Given the description of an element on the screen output the (x, y) to click on. 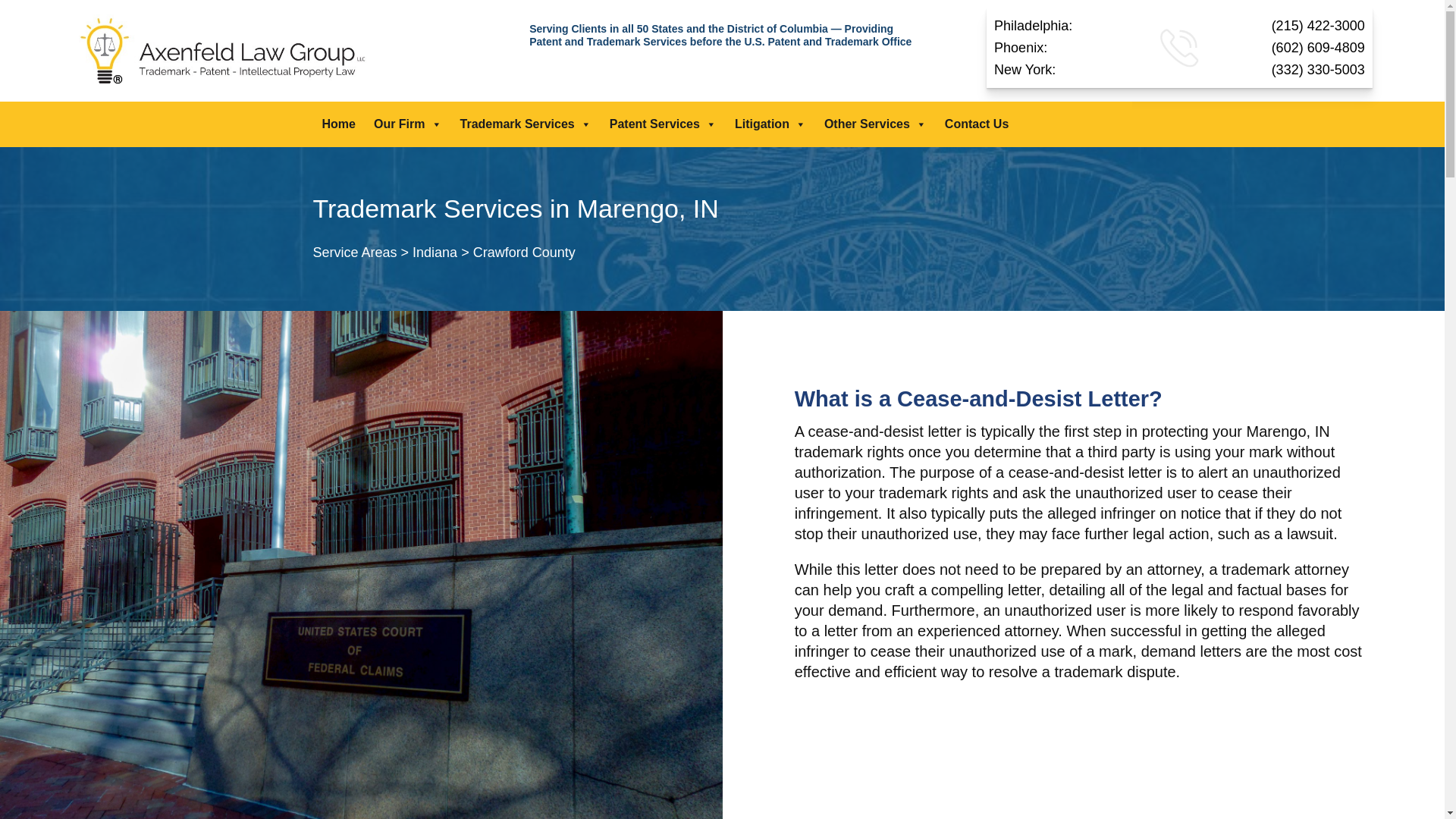
Trademark Services (525, 124)
Our Firm (408, 124)
Litigation (770, 124)
Home (338, 124)
Patent Services (662, 124)
